Given the description of an element on the screen output the (x, y) to click on. 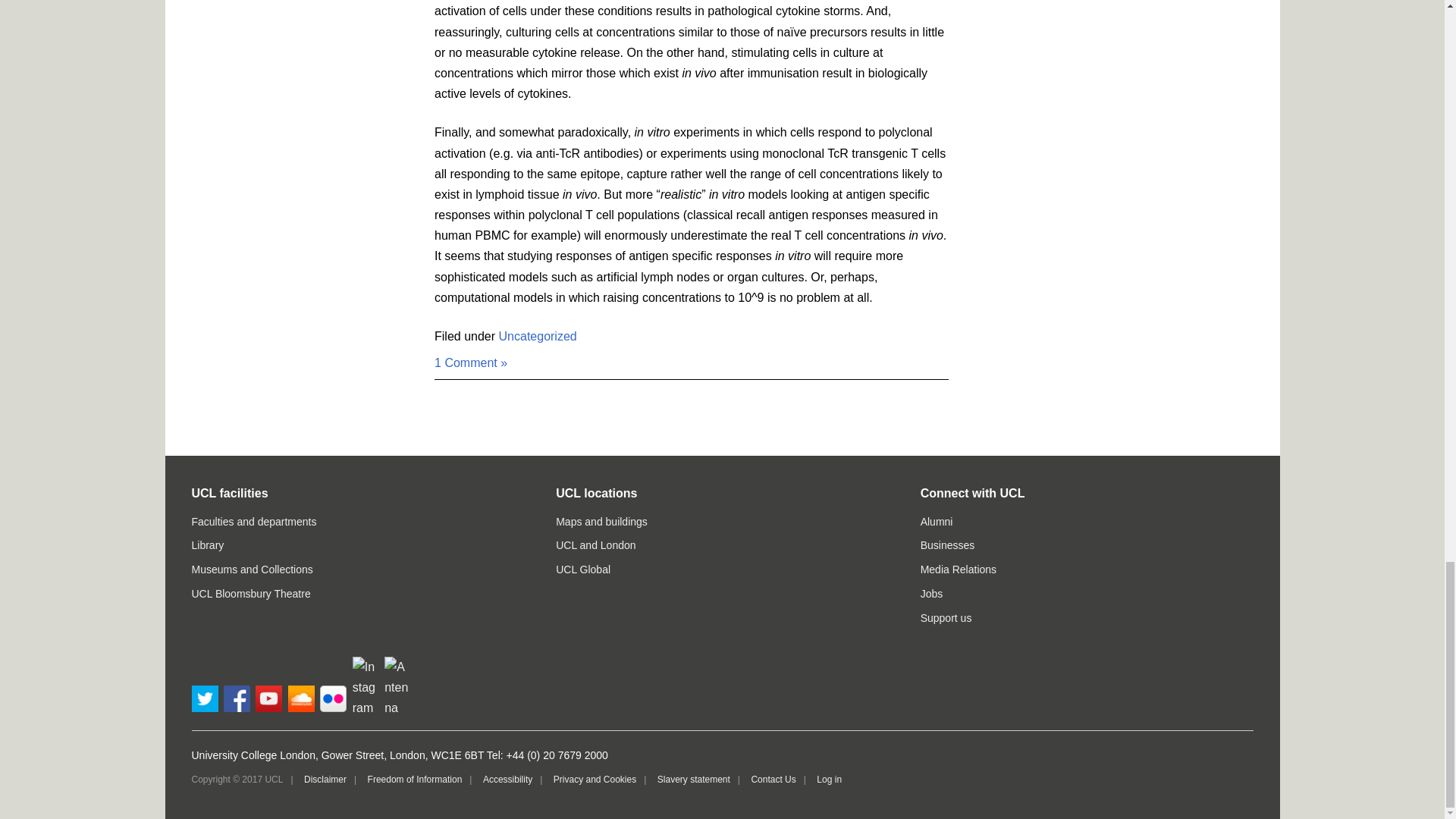
Uncategorized (537, 336)
